Given the description of an element on the screen output the (x, y) to click on. 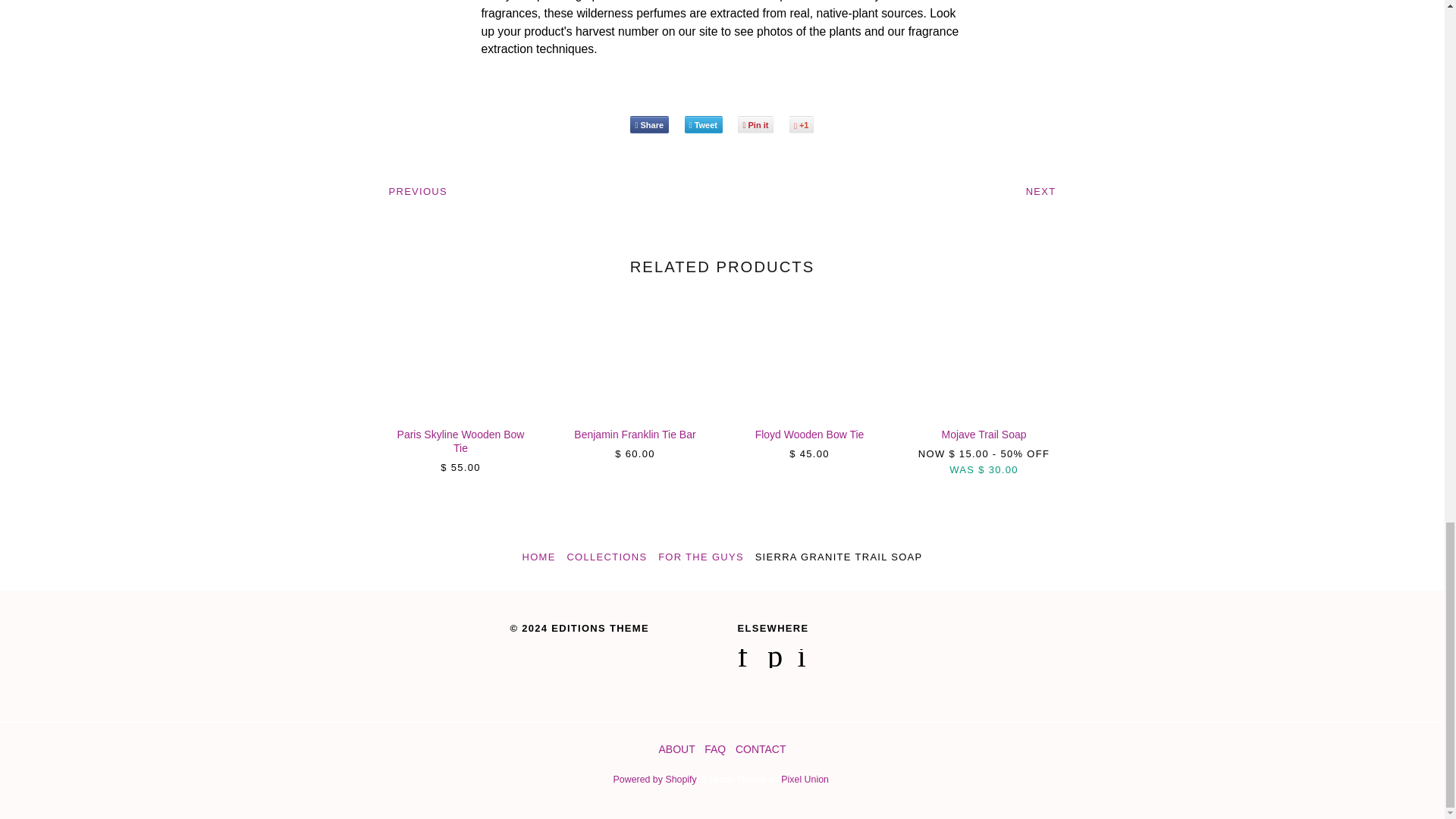
FOR THE GUYS (701, 556)
Pin it (755, 124)
ABOUT (676, 748)
PREVIOUS (417, 191)
Floyd Wooden Bow Tie (809, 434)
COLLECTIONS (606, 556)
Share (649, 124)
HOME (539, 556)
Tweet (703, 124)
Mojave Trail Soap (983, 434)
